Given the description of an element on the screen output the (x, y) to click on. 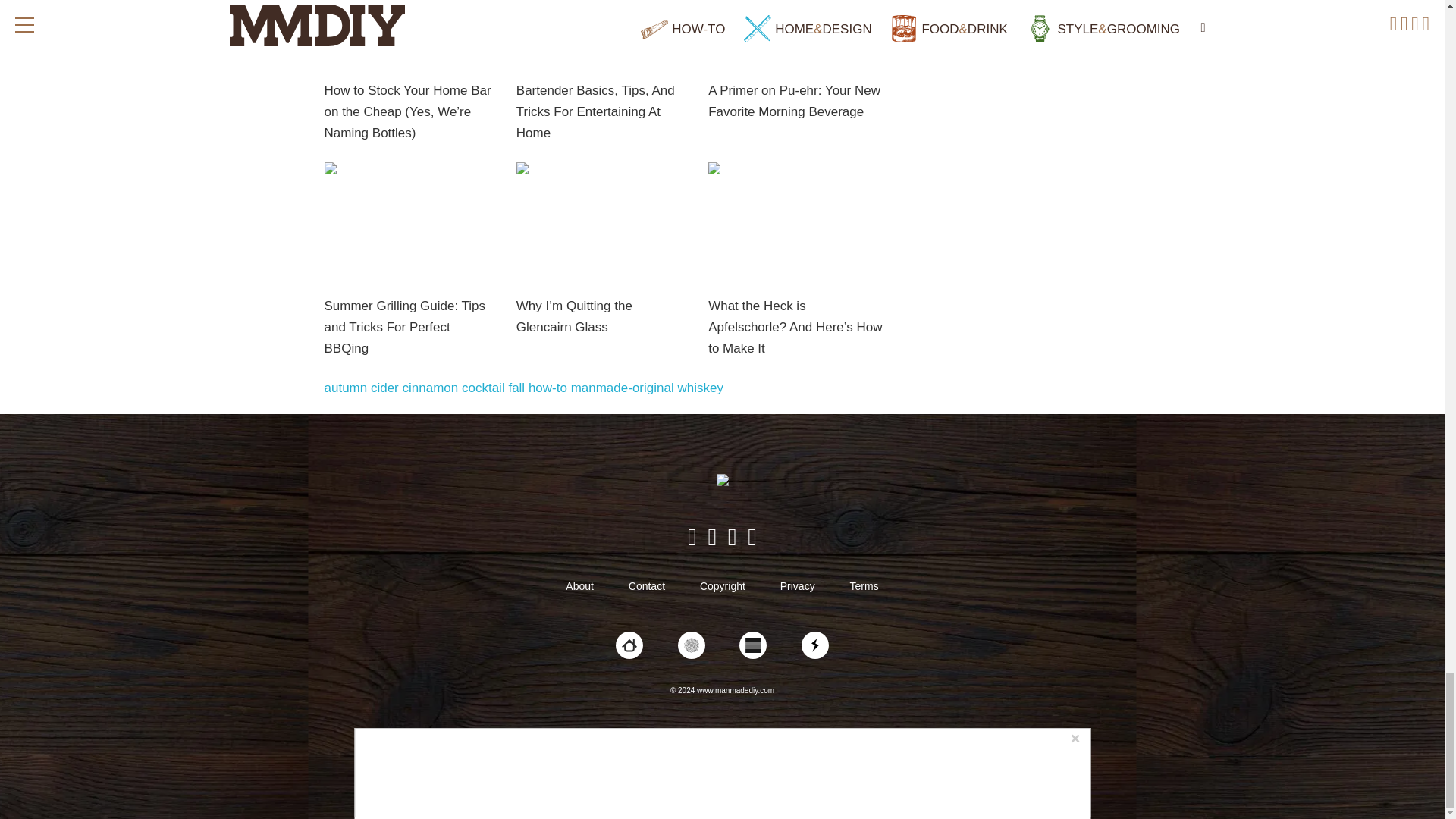
I Waste So Much Time (753, 644)
Higher Perspectives (691, 644)
Slow Robot (815, 644)
Decoist (629, 644)
